Given the description of an element on the screen output the (x, y) to click on. 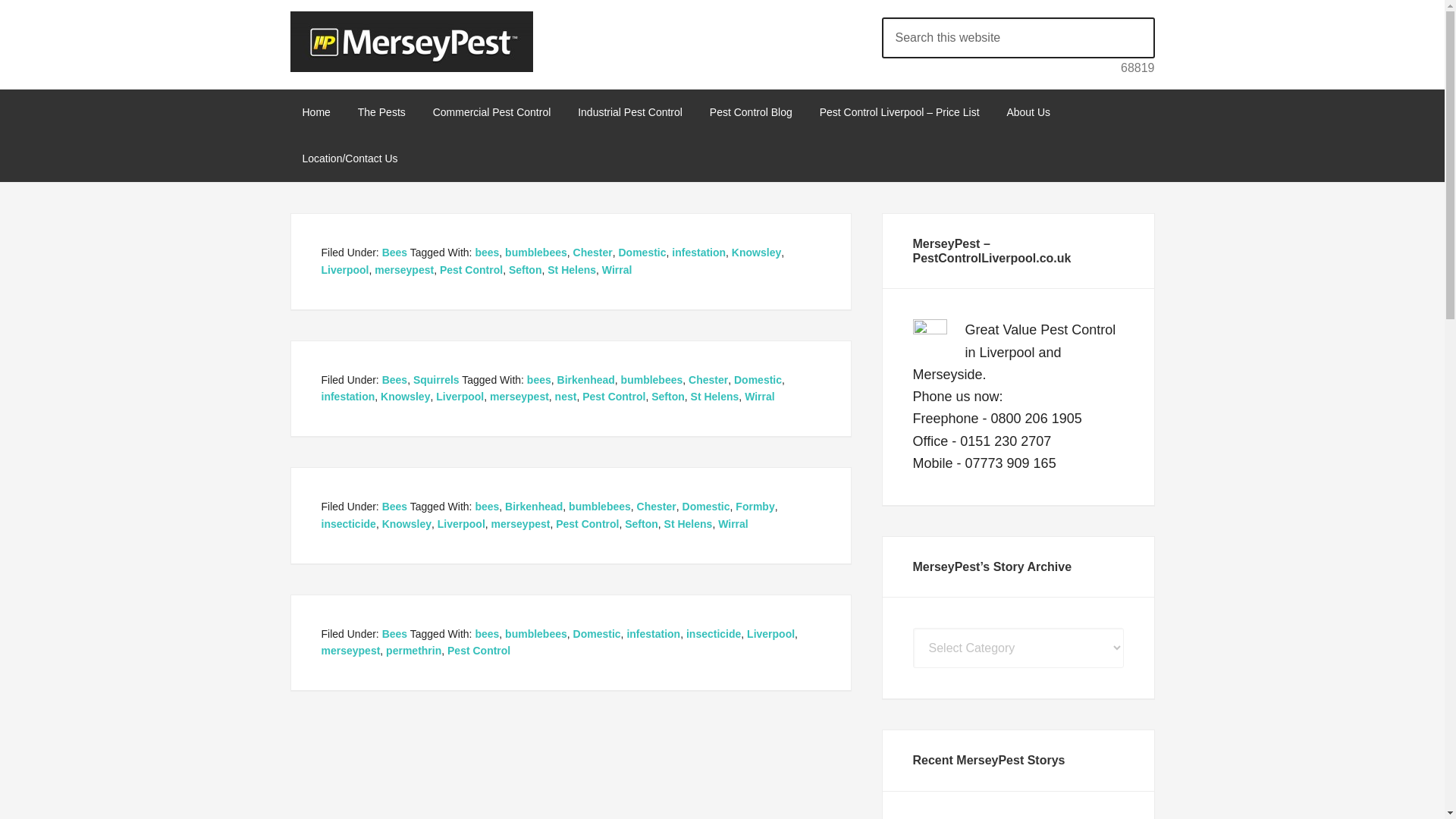
bees (486, 252)
Industrial Pest Control (630, 112)
The Pests (381, 112)
Chester (592, 252)
Home (315, 112)
merseypest (403, 269)
Liverpool (345, 269)
infestation (698, 252)
